Given the description of an element on the screen output the (x, y) to click on. 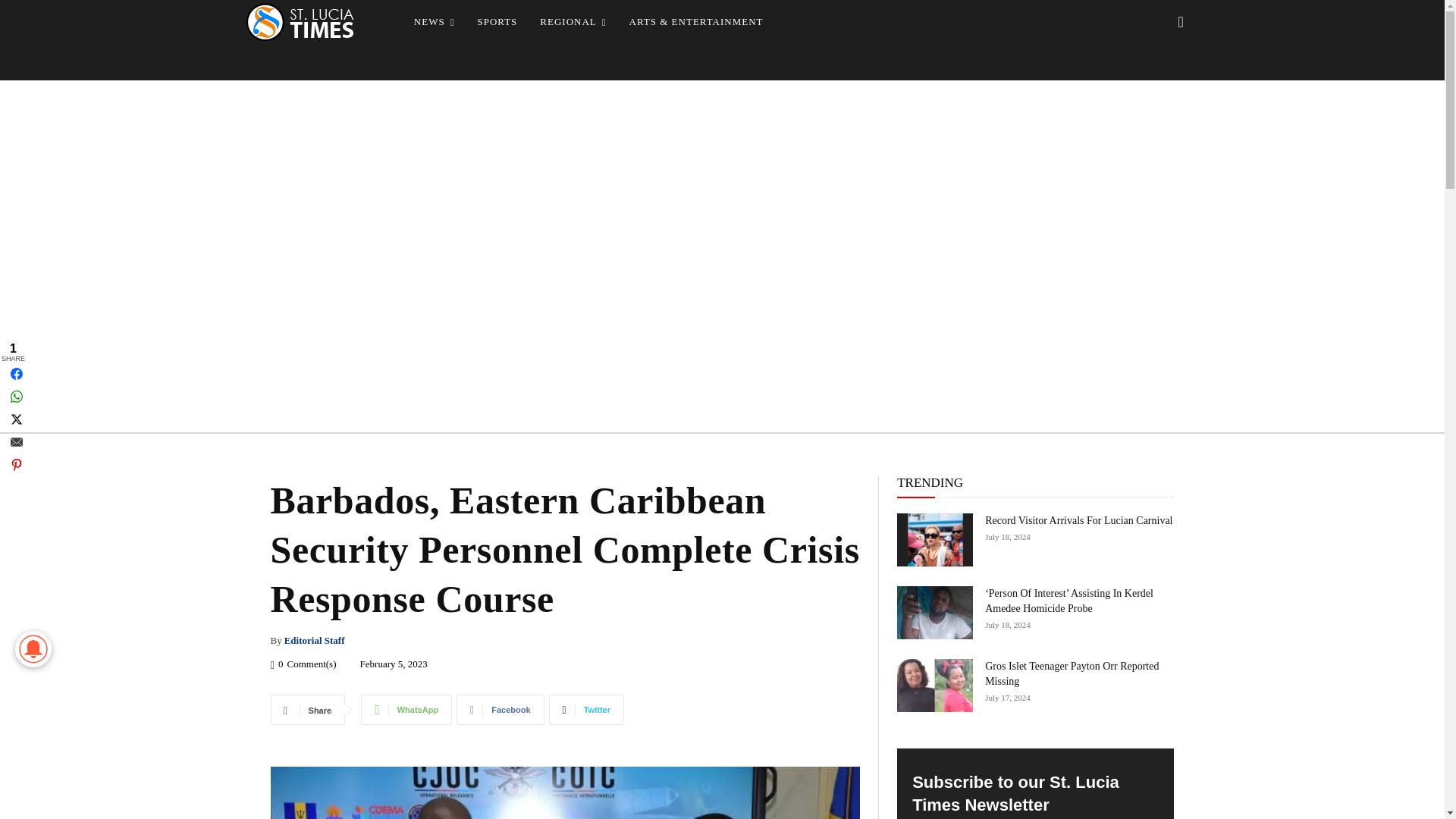
WhatsApp (406, 709)
Twitter (586, 709)
Record Visitor Arrivals For Lucian Carnival (934, 539)
Facebook (500, 709)
Record Visitor Arrivals For Lucian Carnival (1078, 520)
